Given the description of an element on the screen output the (x, y) to click on. 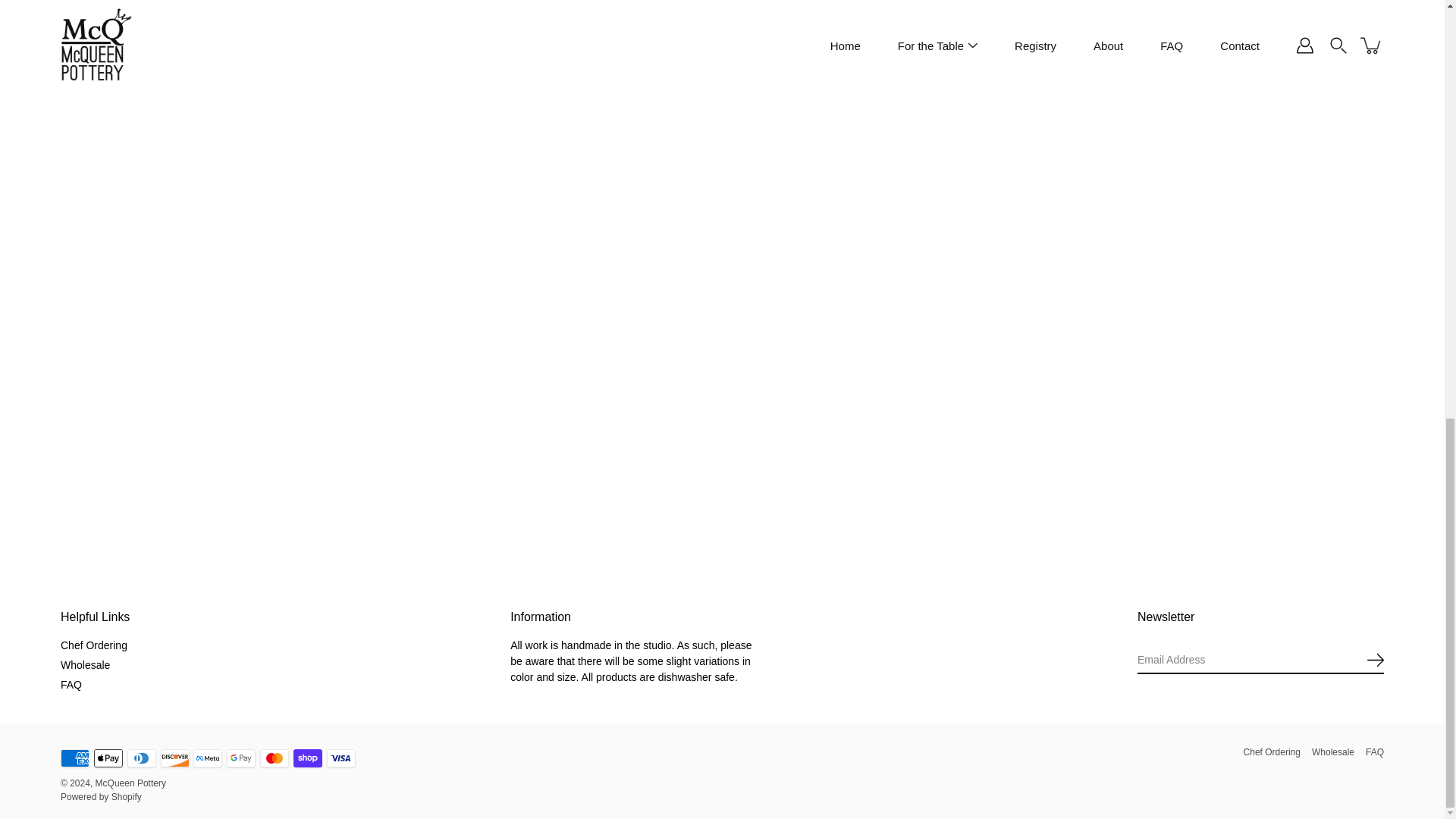
American Express (74, 758)
Diners Club (141, 758)
Discover (174, 758)
Google Pay (241, 758)
Apple Pay (108, 758)
Meta Pay (207, 758)
Mastercard (274, 758)
Shop Pay (307, 758)
Visa (340, 758)
